Given the description of an element on the screen output the (x, y) to click on. 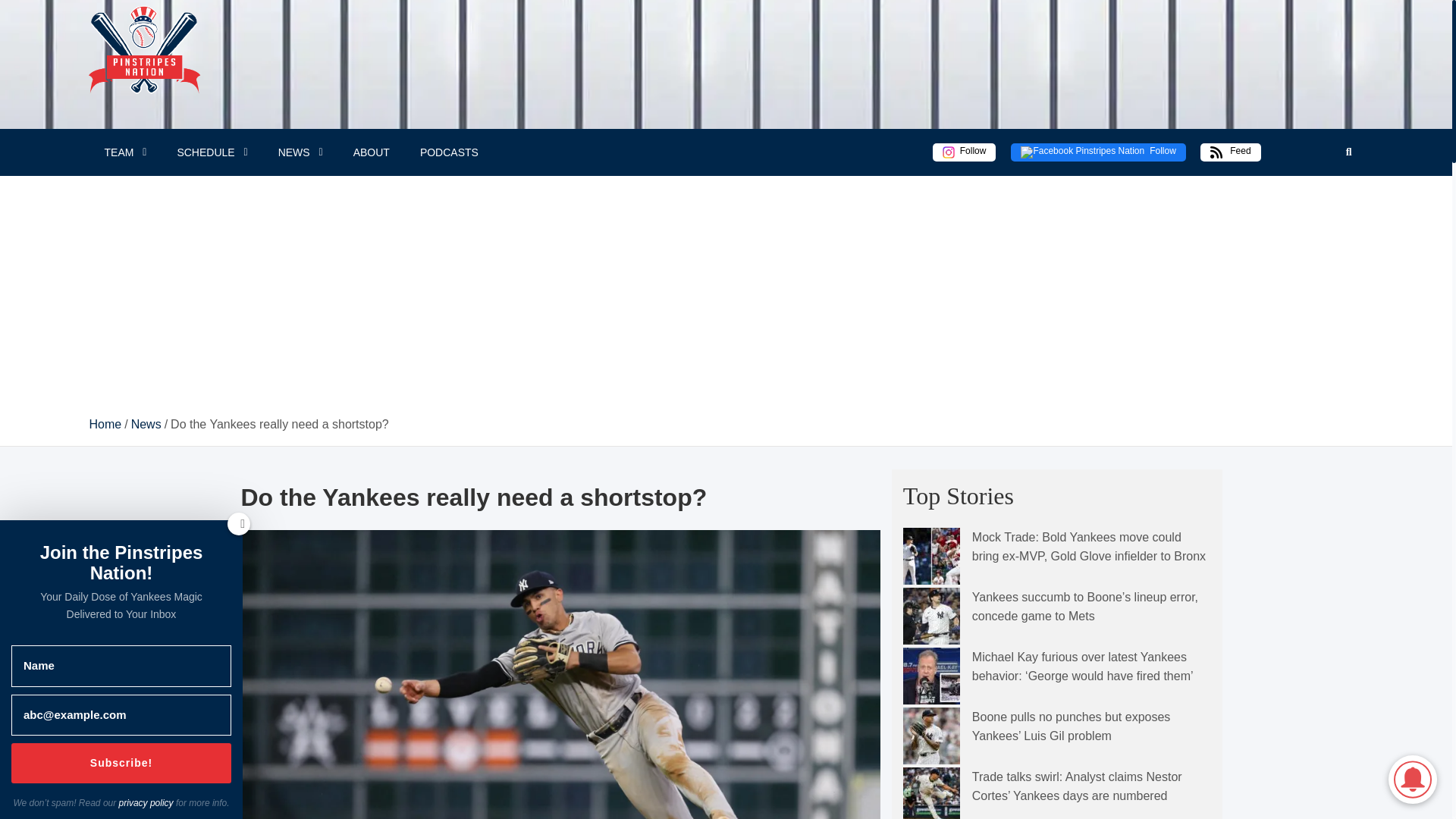
SCHEDULE (211, 152)
Home (105, 423)
NEWS (300, 152)
Feed (1229, 152)
TEAM (124, 152)
Follow Pinstripes Nation's Page on Instagram (964, 152)
News (146, 423)
ABOUT (370, 152)
Follow (1097, 152)
Follow Pinstripes Nation's Page on Facebook (1097, 152)
PODCASTS (448, 152)
Pinstripes Nation (136, 86)
Follow (964, 152)
